Given the description of an element on the screen output the (x, y) to click on. 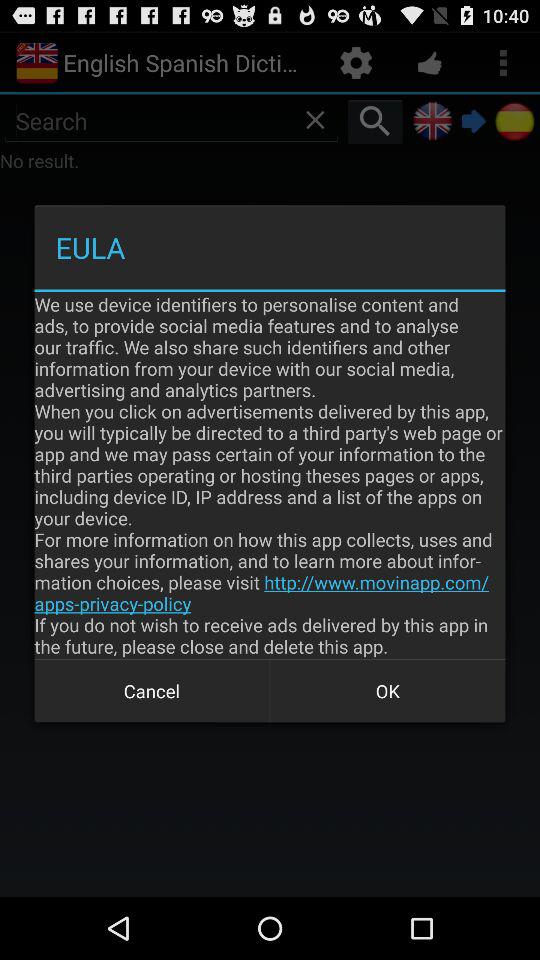
select item at the bottom right corner (387, 690)
